Given the description of an element on the screen output the (x, y) to click on. 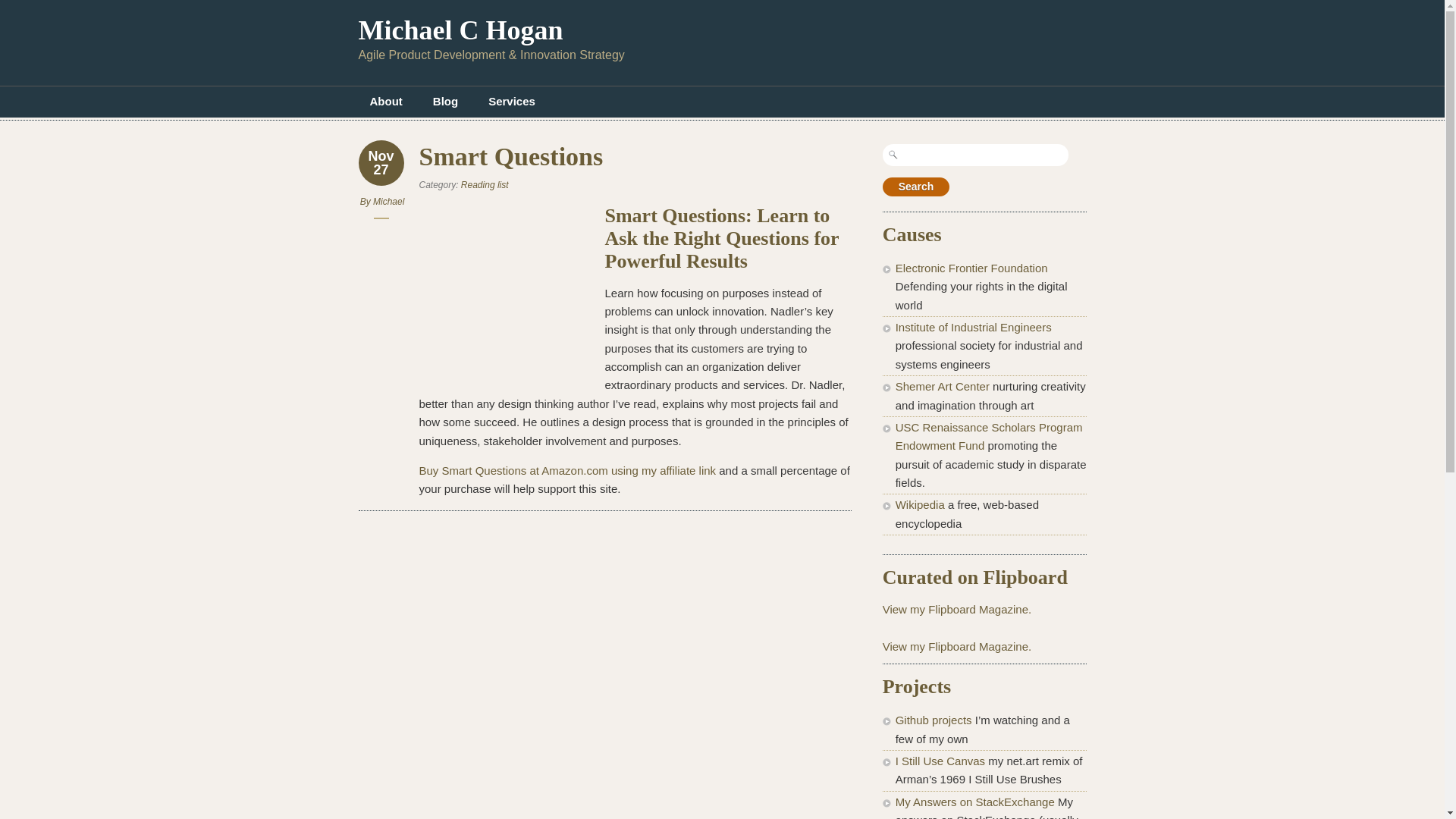
a free, web-based encyclopedia (919, 504)
nurturing creativity and imagination through art (942, 386)
My Answers on StackExchange (974, 801)
Electronic Frontier Foundation (971, 267)
Wikipedia (919, 504)
USC Renaissance Scholars Program Endowment Fund (989, 436)
Search (916, 186)
Buy Smart Questions at Amazon.com using my affiliate link (567, 470)
Blog (445, 101)
Buy Smart Questions at Amazon.com using my affiliate link (567, 470)
Github projects (933, 719)
Institute of Industrial Engineers (973, 327)
Michael (388, 201)
promoting the pursuit of academic study in disparate fields. (989, 436)
About (385, 101)
